Given the description of an element on the screen output the (x, y) to click on. 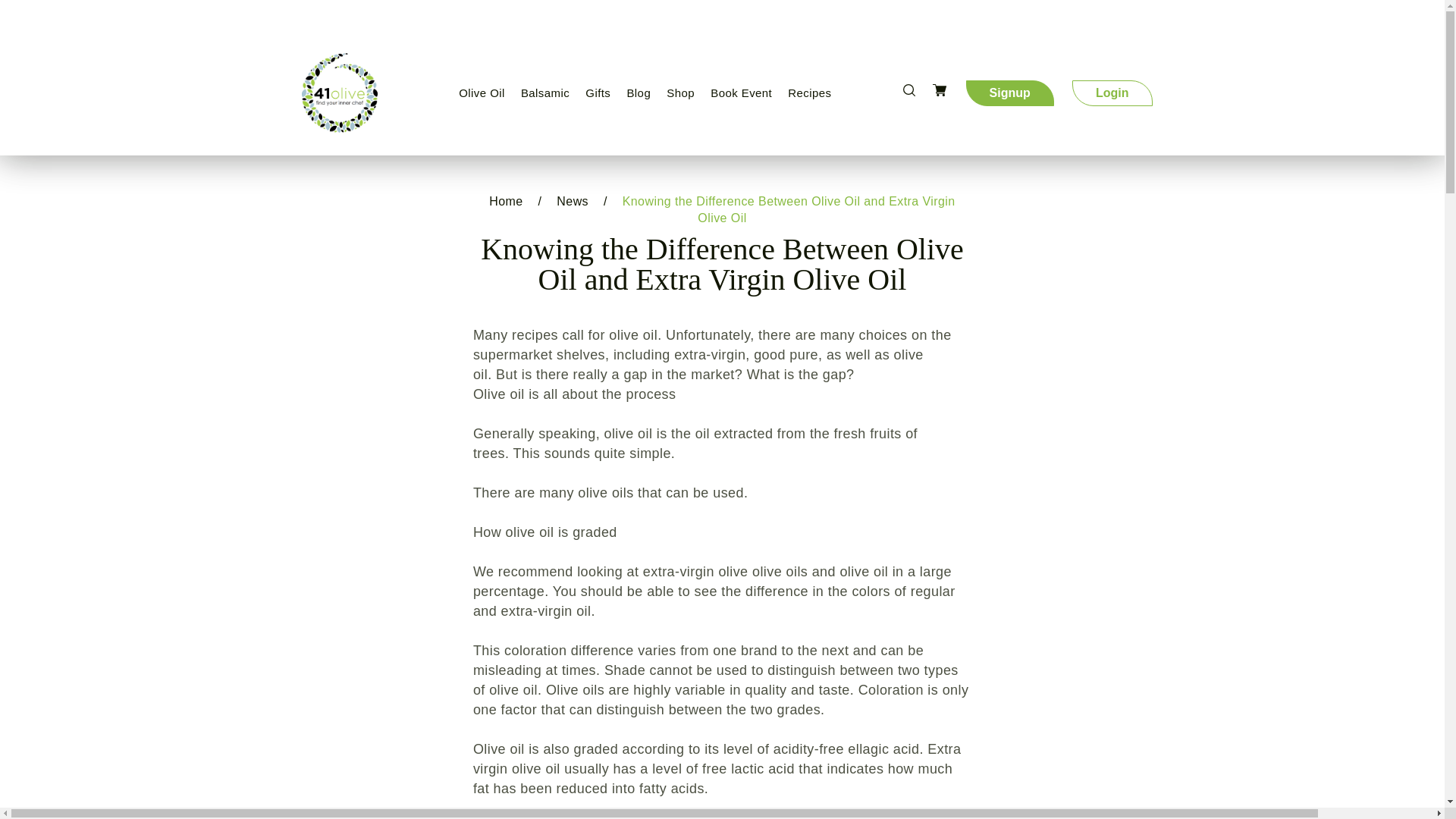
Olive Oil (481, 92)
Home (505, 201)
Gifts (597, 92)
Balsamic (545, 92)
Blog (638, 92)
